Given the description of an element on the screen output the (x, y) to click on. 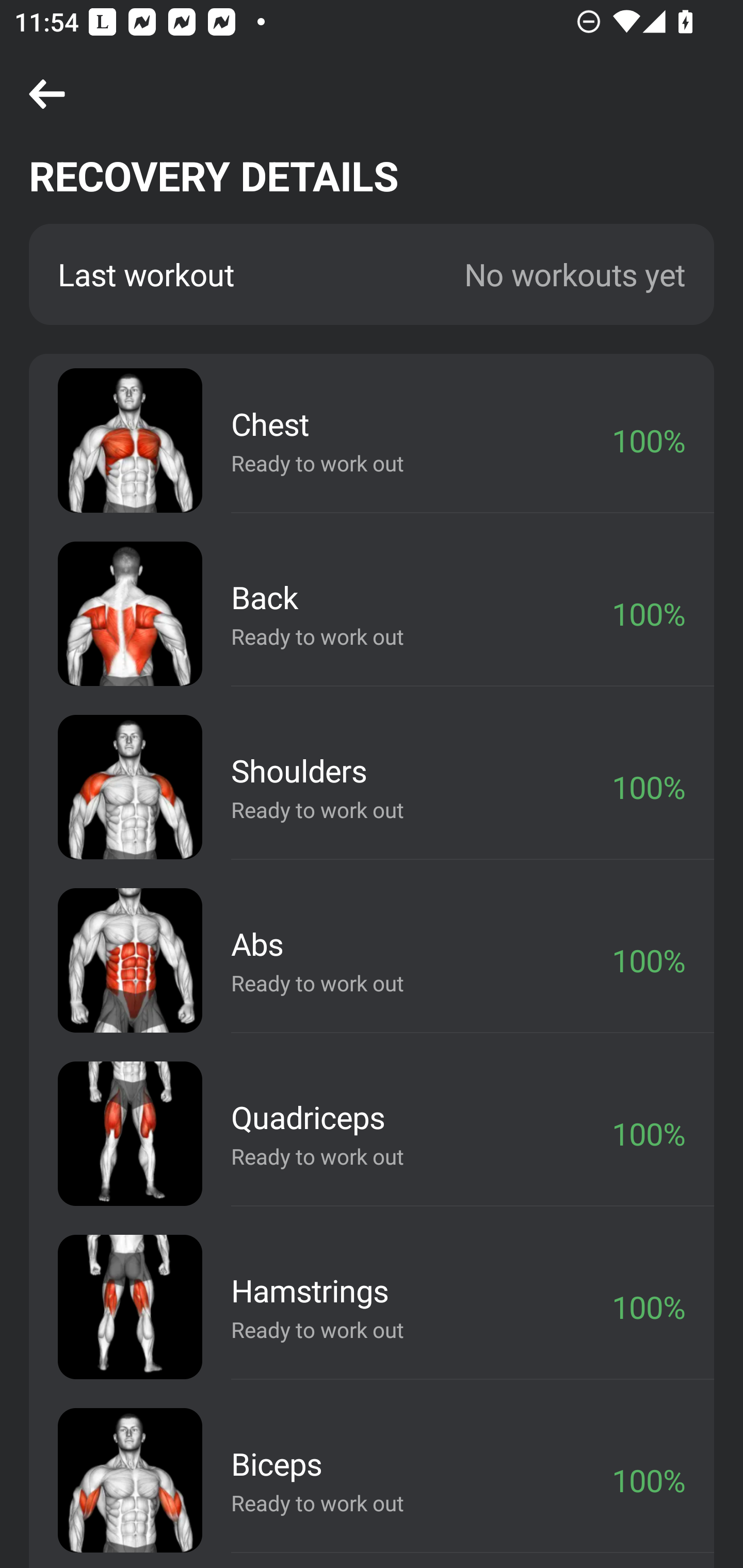
Navigation icon (46, 94)
